Given the description of an element on the screen output the (x, y) to click on. 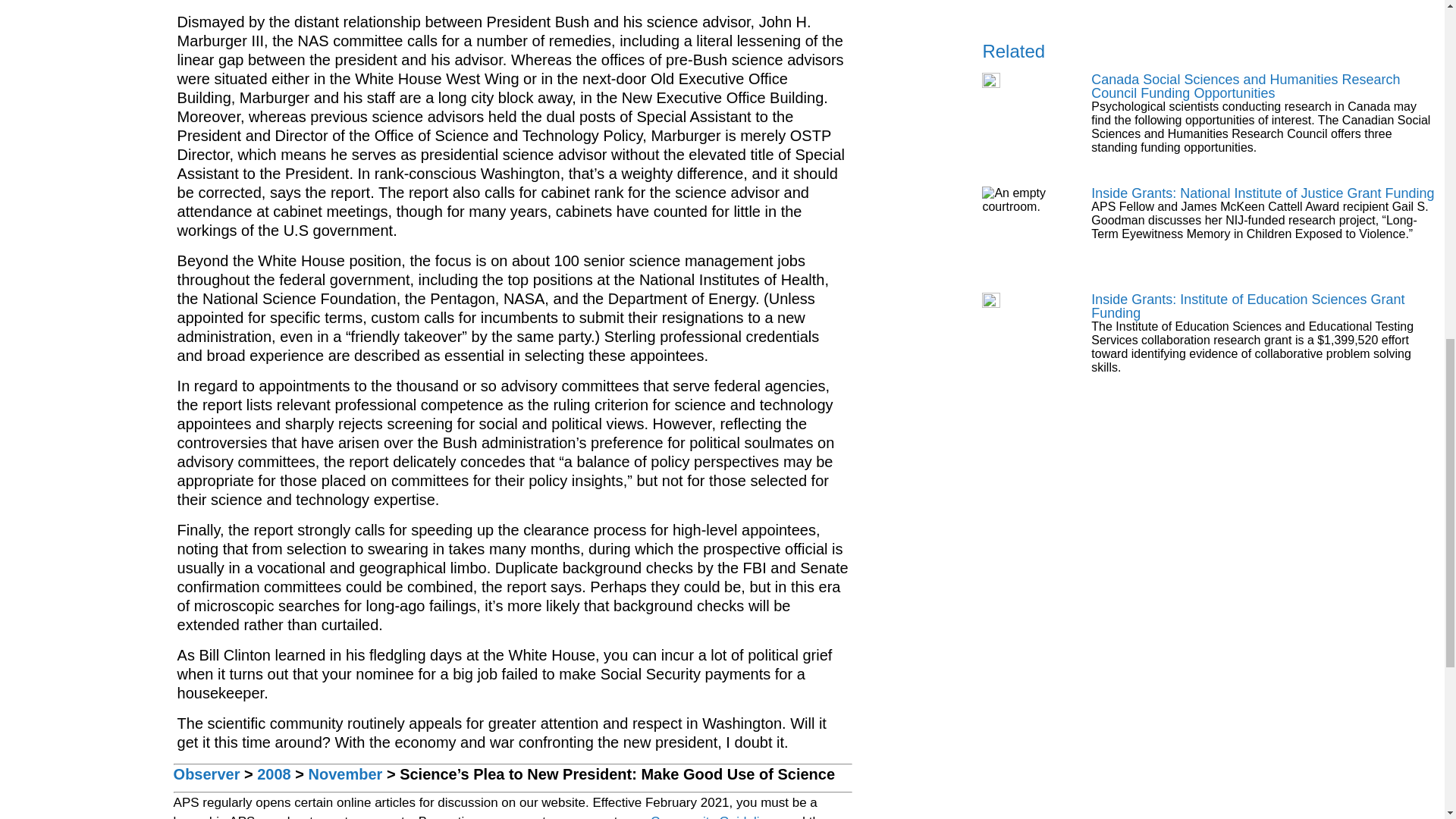
Go to the 2008 Issue archives. (274, 773)
Go to the November Issue archives. (345, 773)
Go to Observer. (206, 773)
